Given the description of an element on the screen output the (x, y) to click on. 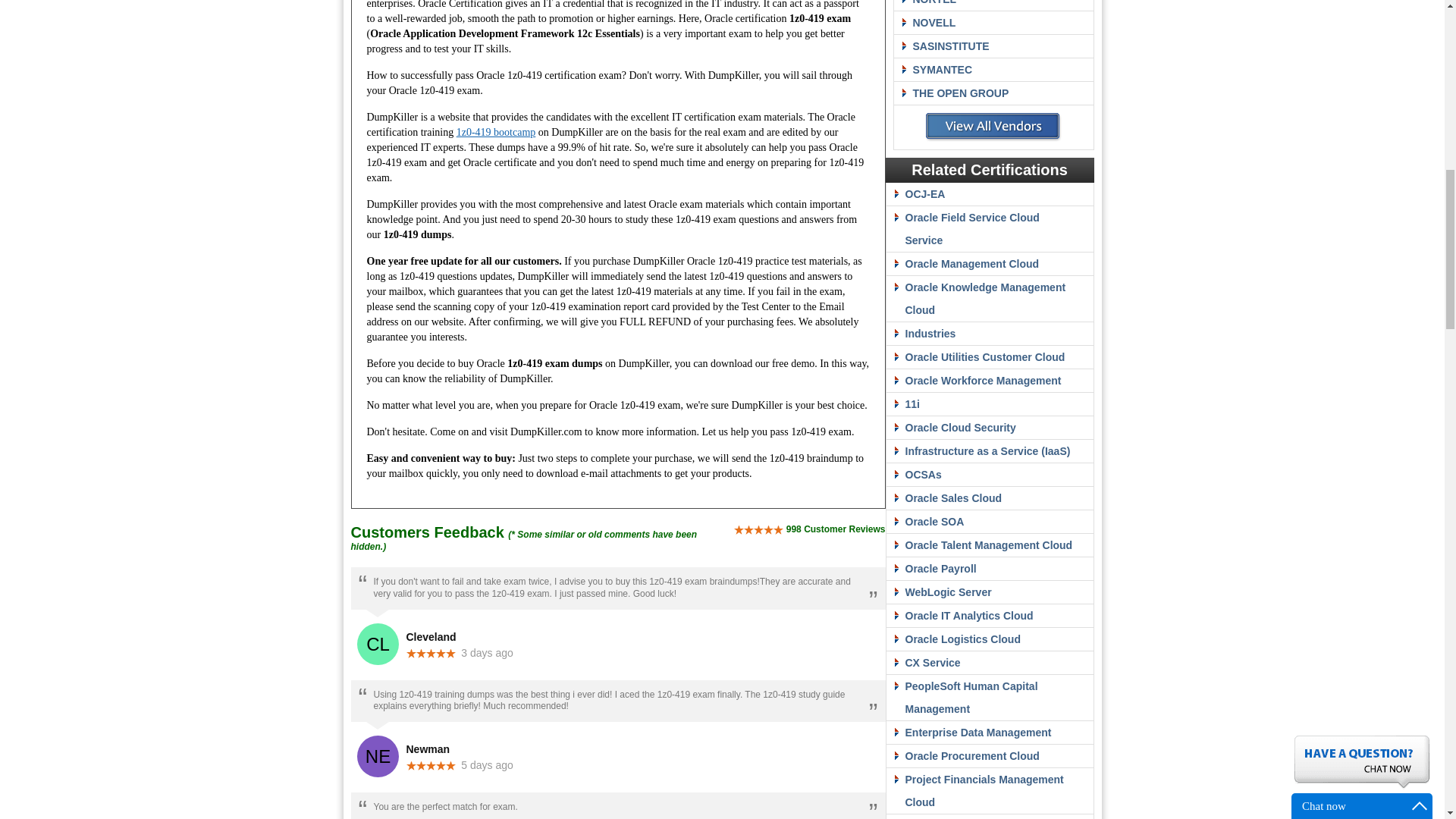
Jul 14, 2024 (487, 765)
Jul 16, 2024 (487, 653)
1z0-419 bootcamp (496, 132)
